Given the description of an element on the screen output the (x, y) to click on. 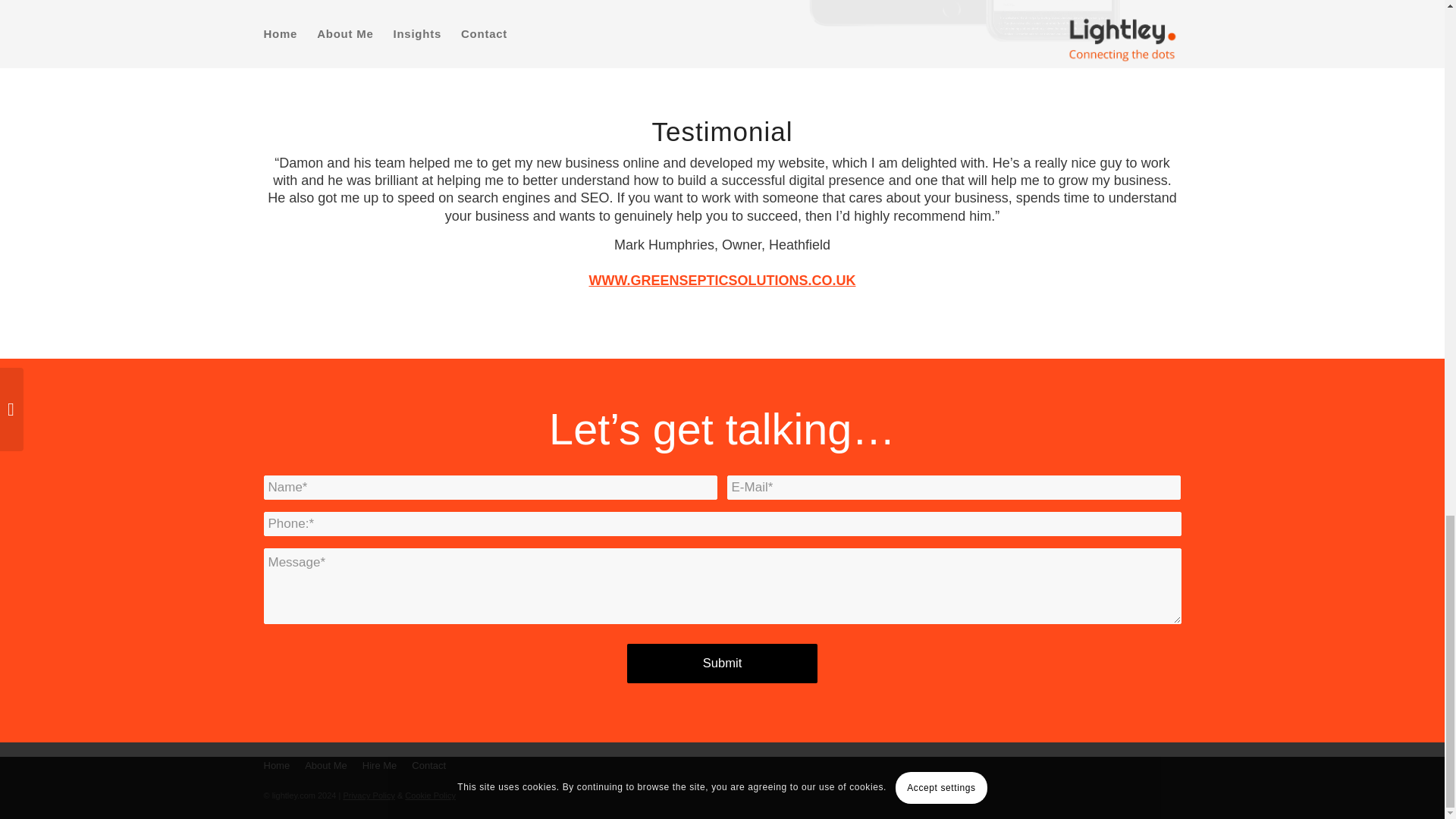
Hire Me (387, 765)
Submit (722, 663)
gss-mobile-sp (965, 20)
Cookie Policy (429, 795)
About Me (333, 765)
Submit (722, 663)
Contact (436, 765)
Privacy Policy (368, 795)
Home (284, 765)
WWW.GREENSEPTICSOLUTIONS.CO.UK (722, 280)
